Given the description of an element on the screen output the (x, y) to click on. 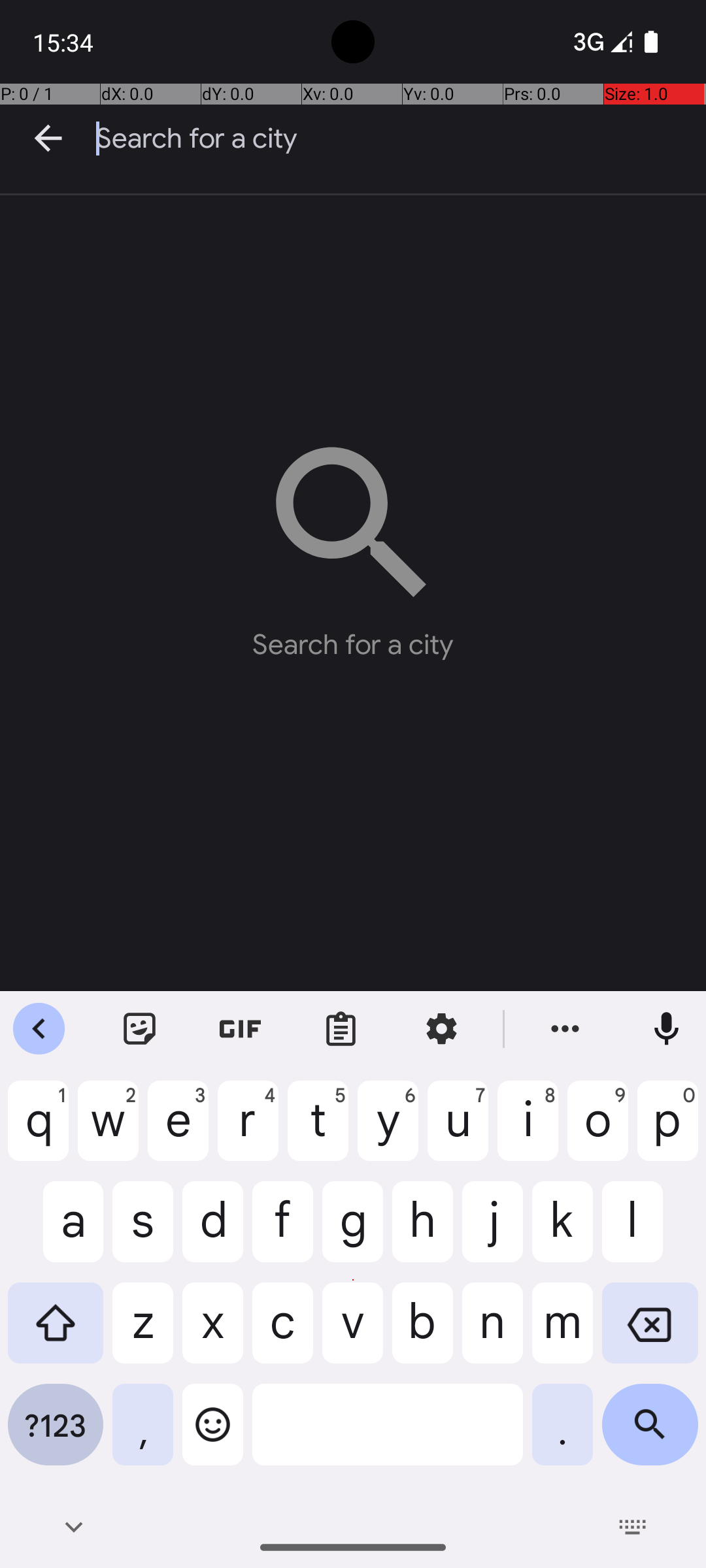
Search for a city Element type: android.widget.EditText (401, 138)
